Given the description of an element on the screen output the (x, y) to click on. 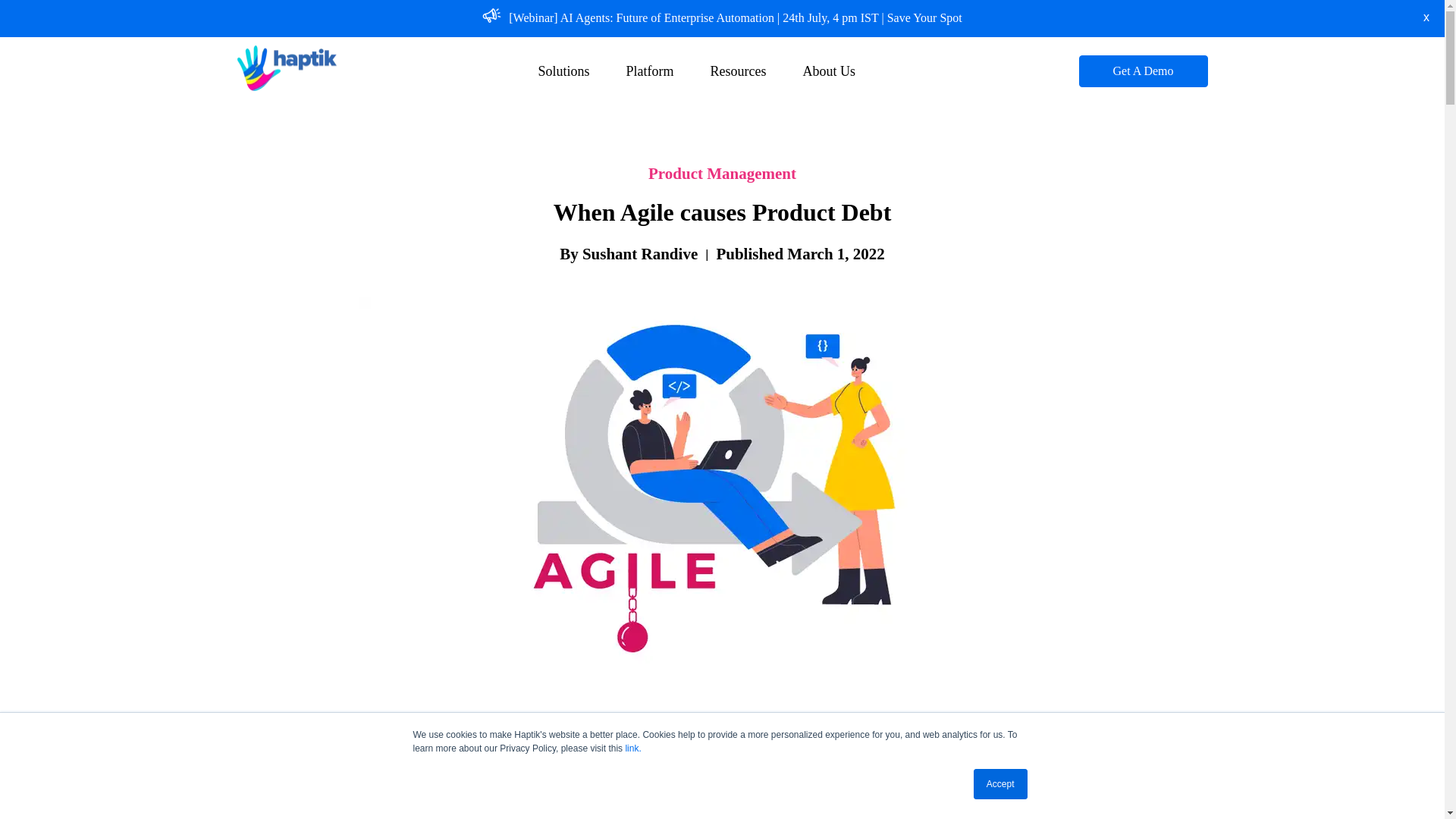
Solutions (563, 70)
Resources (737, 70)
Platform (649, 70)
link. (632, 747)
Accept (1000, 784)
twitter (310, 805)
